Given the description of an element on the screen output the (x, y) to click on. 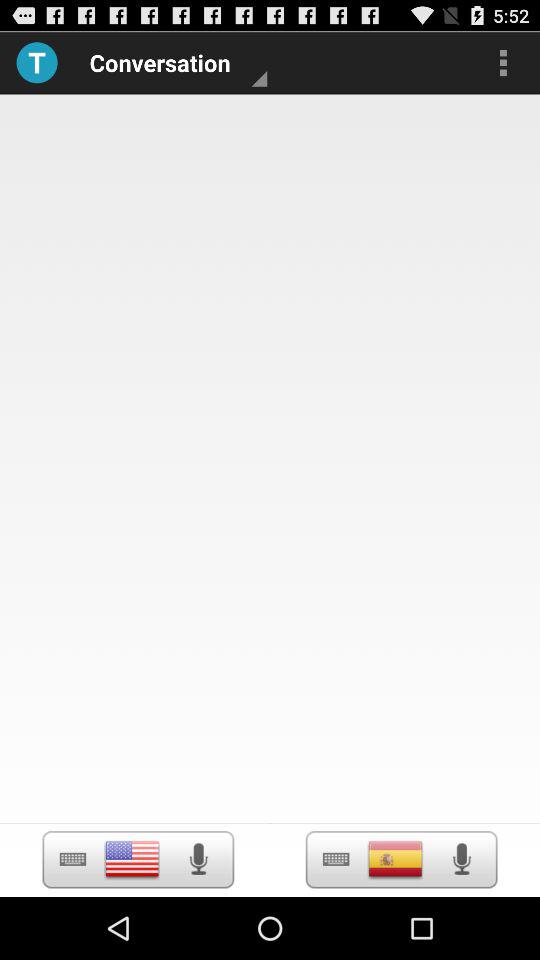
it is a voice key (461, 859)
